Given the description of an element on the screen output the (x, y) to click on. 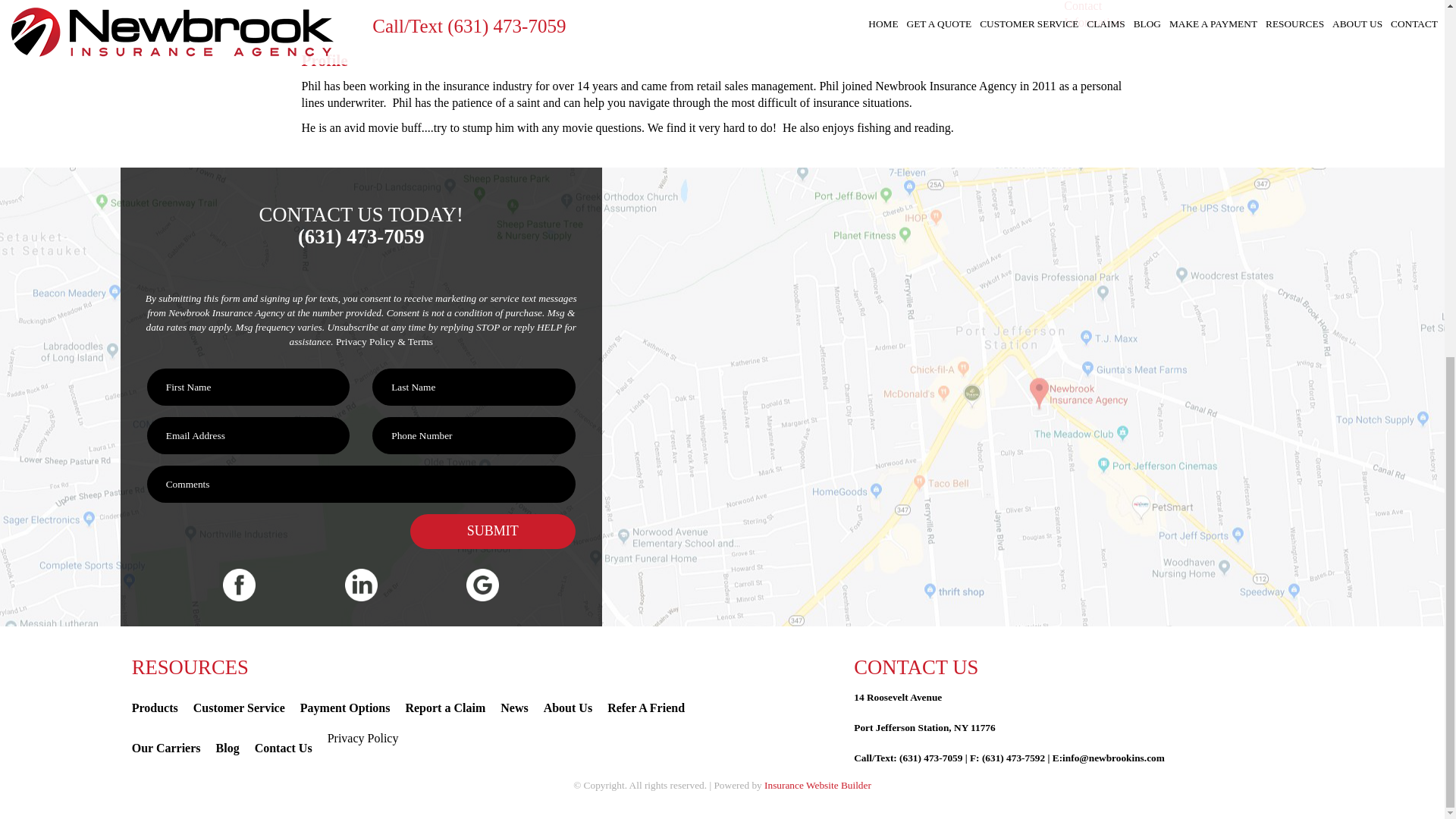
Insurance Website Builder (817, 785)
